Given the description of an element on the screen output the (x, y) to click on. 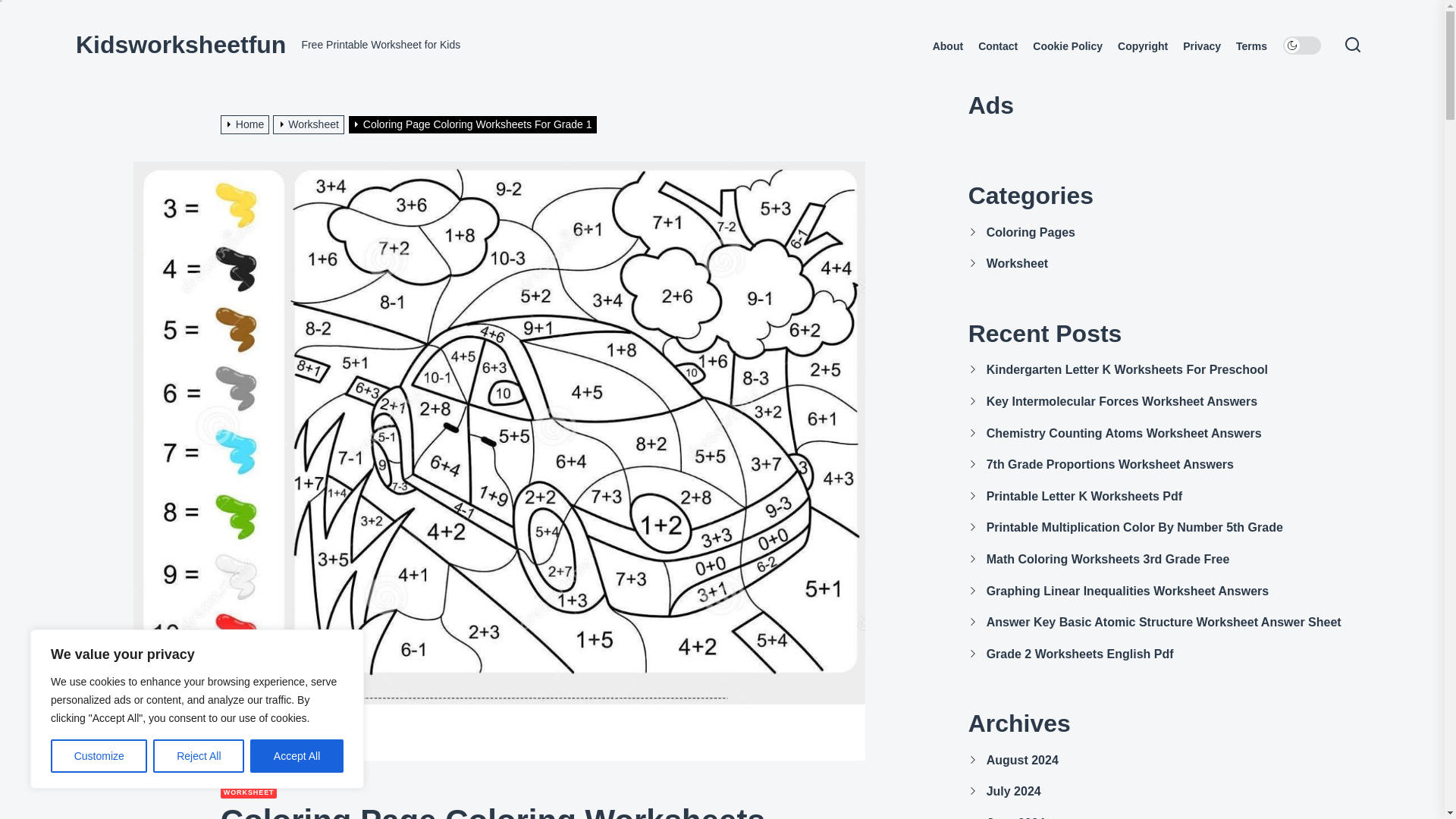
Reject All (198, 756)
Terms (1251, 46)
Kidsworksheetfun (180, 44)
Accept All (296, 756)
Copyright (1142, 46)
About (947, 46)
Cookie Policy (1067, 46)
Contact (997, 46)
Home (247, 123)
Privacy (1201, 46)
